Given the description of an element on the screen output the (x, y) to click on. 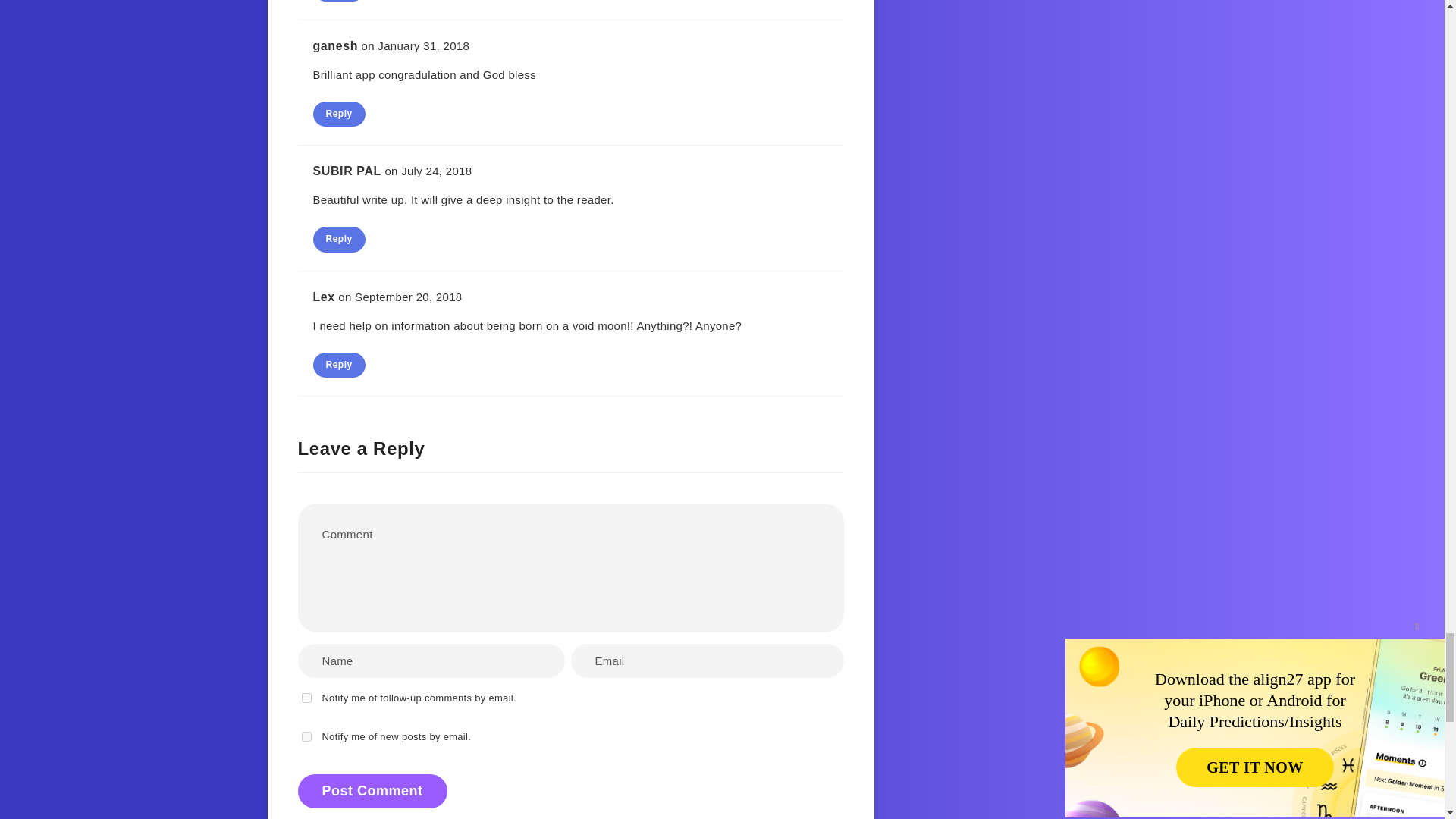
subscribe (306, 737)
Post Comment (371, 790)
subscribe (306, 697)
